Given the description of an element on the screen output the (x, y) to click on. 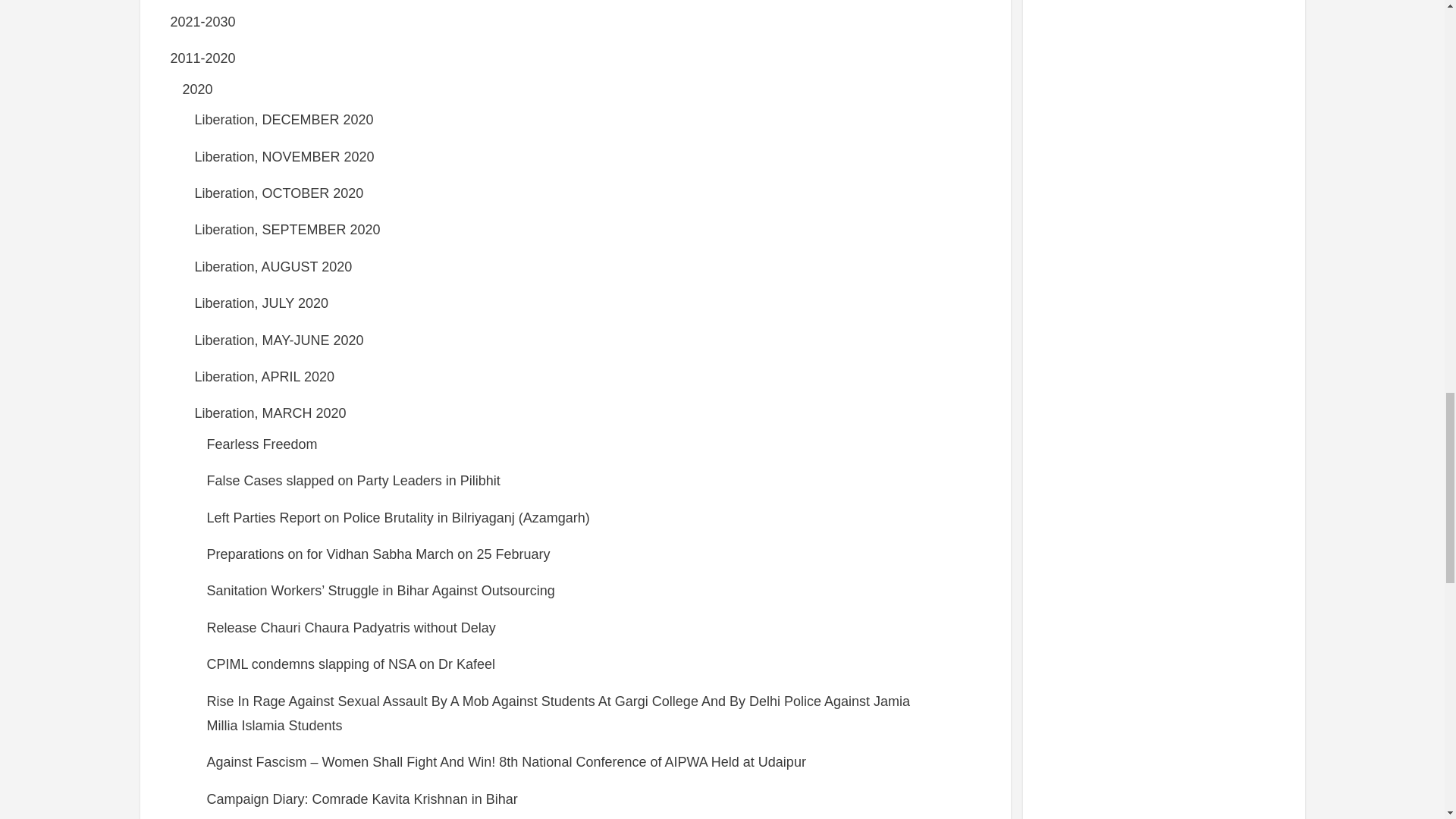
Liberation, MARCH 2020 (269, 412)
2020 (197, 89)
2011-2020 (202, 58)
